Given the description of an element on the screen output the (x, y) to click on. 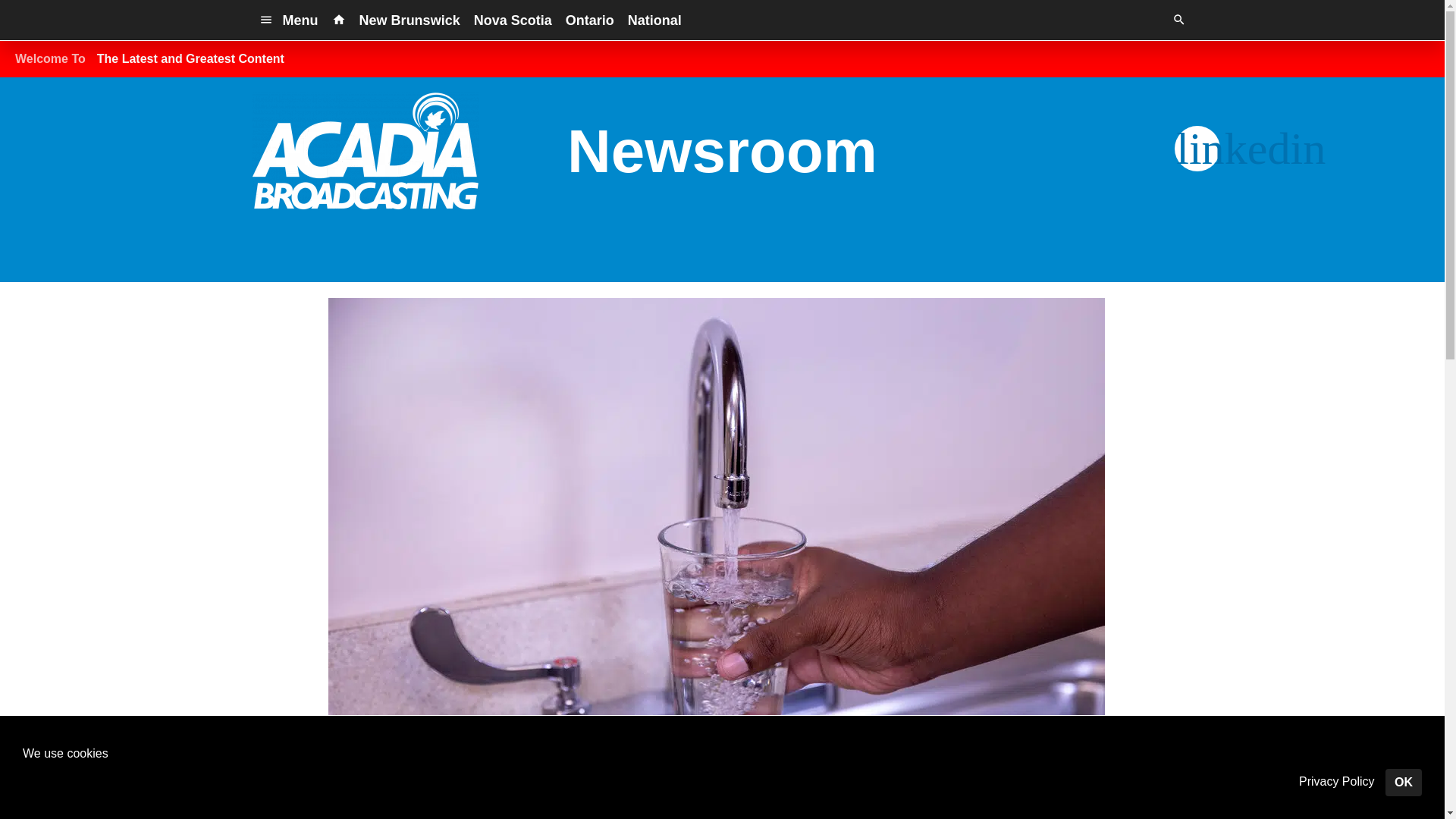
Privacy Policy (1336, 781)
Ontario (590, 19)
New Brunswick (409, 19)
Menu (287, 19)
Nova Scotia (513, 19)
The Latest and Greatest Content (190, 58)
The Latest and Greatest Content (190, 58)
OK (1404, 782)
National (654, 19)
LinkedIn (1197, 148)
